Given the description of an element on the screen output the (x, y) to click on. 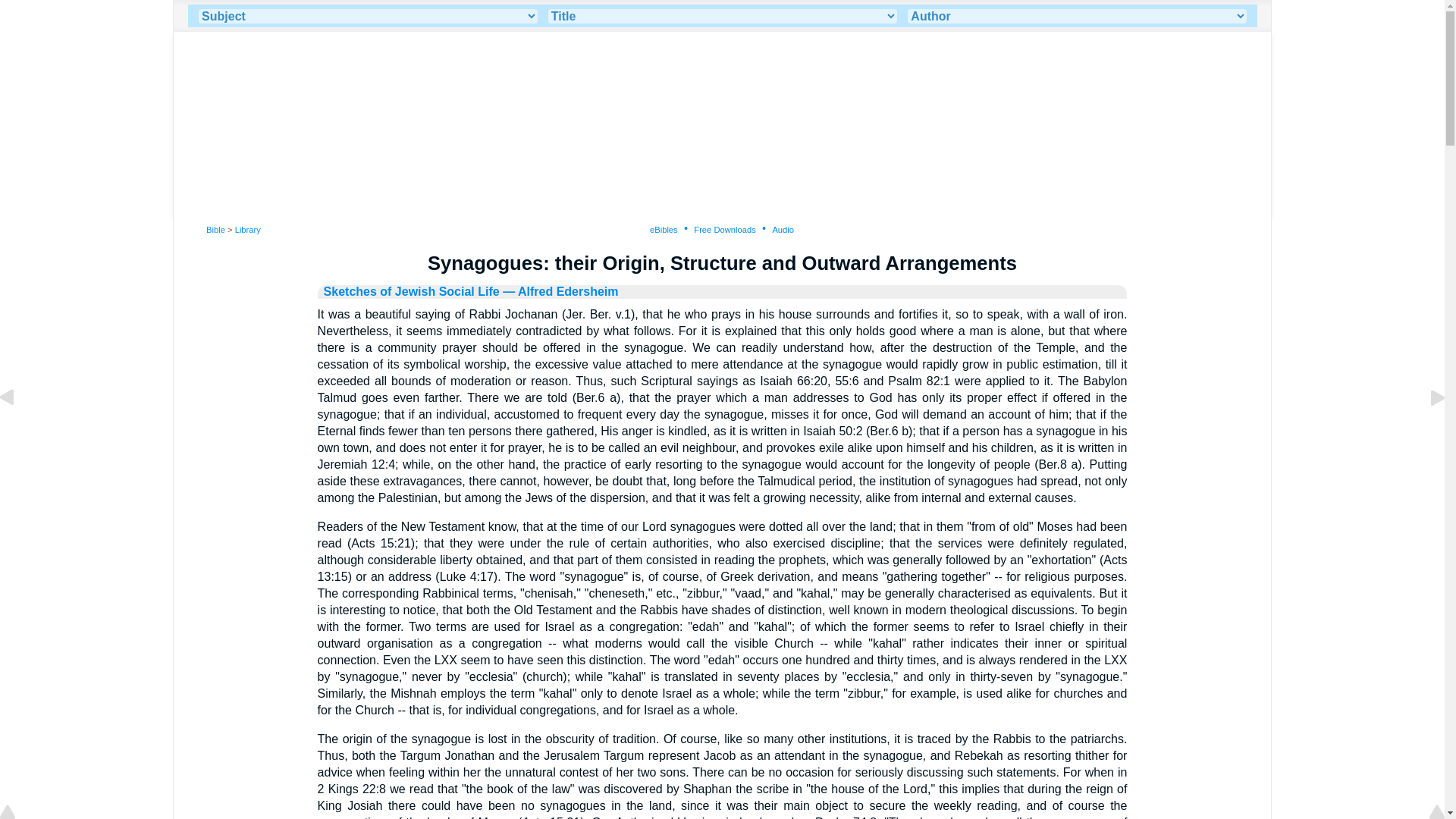
Bible (215, 229)
chapter 15 relation of the (18, 431)
Sketches of Jewish Social Life (411, 291)
Top of Page (18, 813)
Library (247, 229)
